Given the description of an element on the screen output the (x, y) to click on. 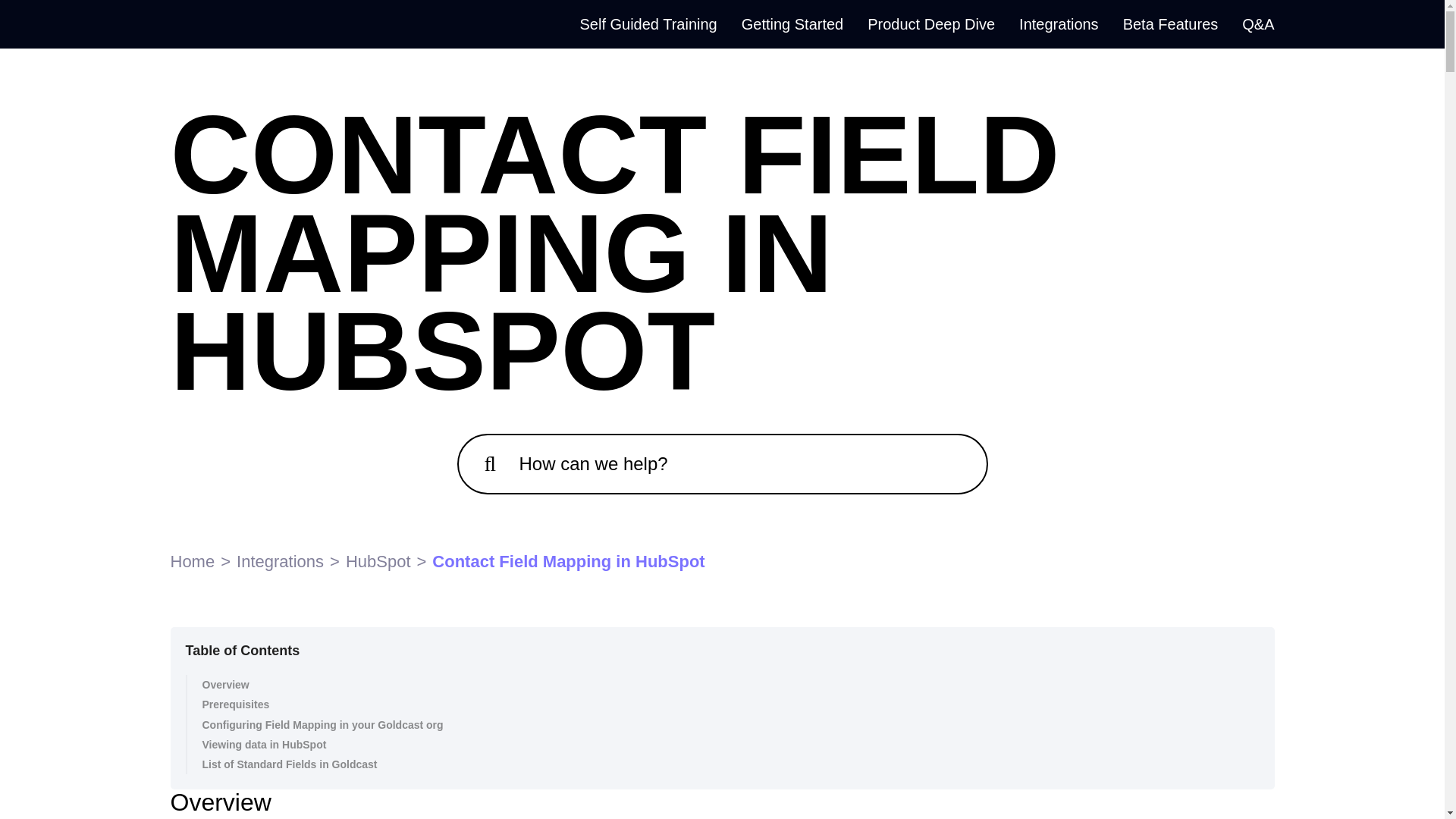
Product Deep Dive (930, 23)
Beta Features (1170, 23)
Self Guided Training (647, 23)
Integrations (1059, 23)
Getting Started (792, 23)
